Given the description of an element on the screen output the (x, y) to click on. 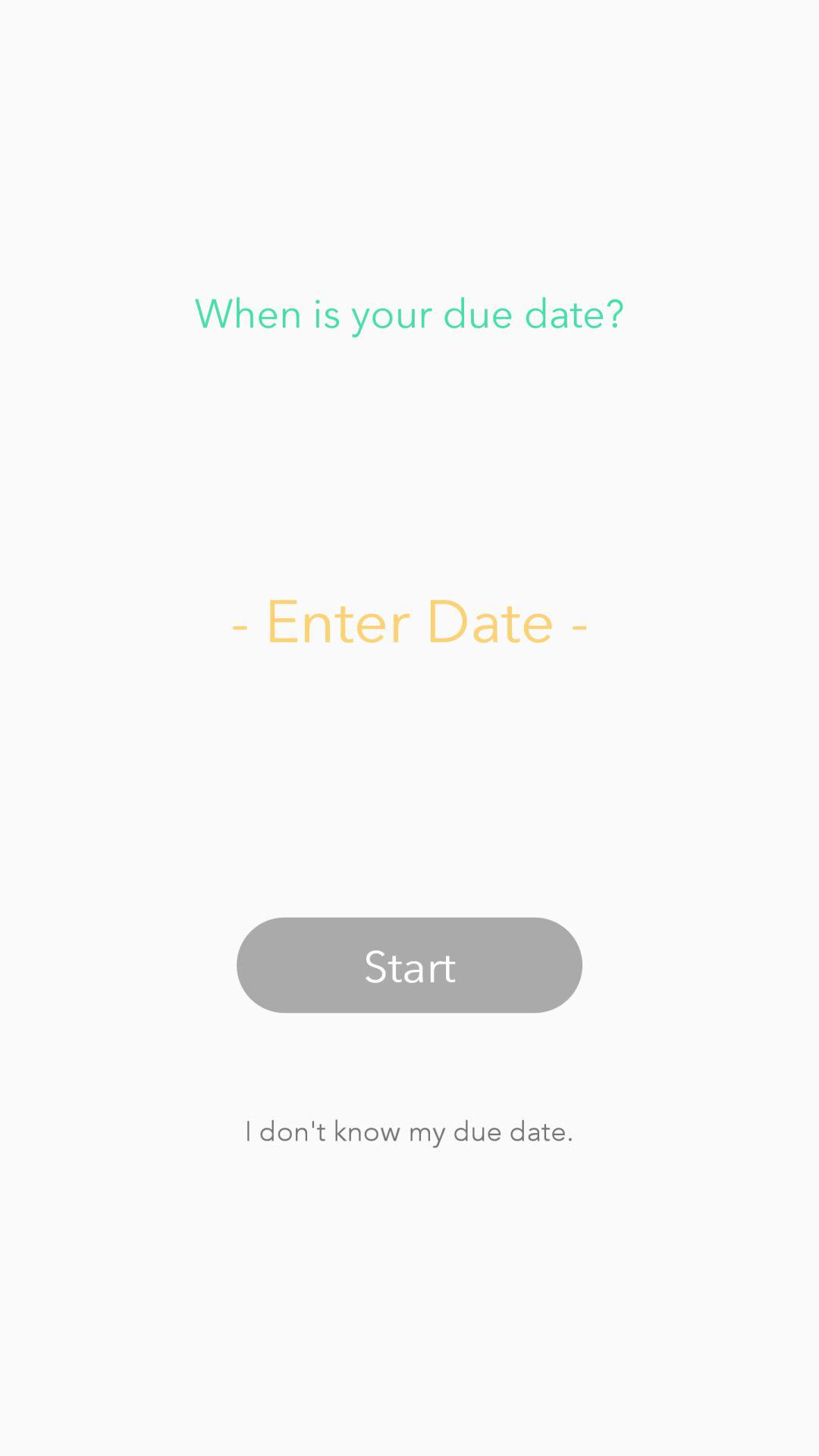
open the i don t at the bottom (408, 1129)
